Given the description of an element on the screen output the (x, y) to click on. 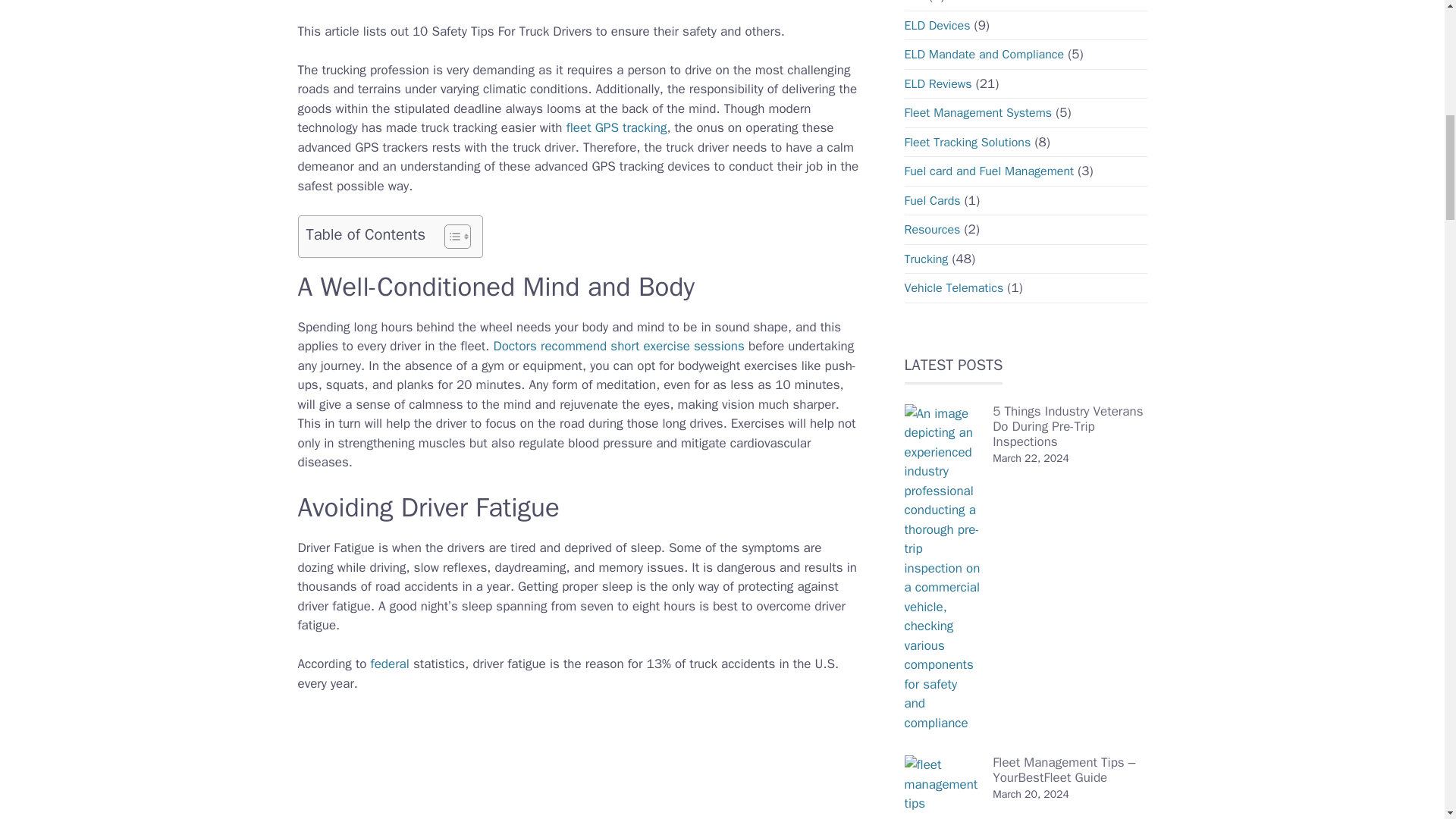
fleet GPS tracking (616, 127)
YouTube video player (509, 765)
